Given the description of an element on the screen output the (x, y) to click on. 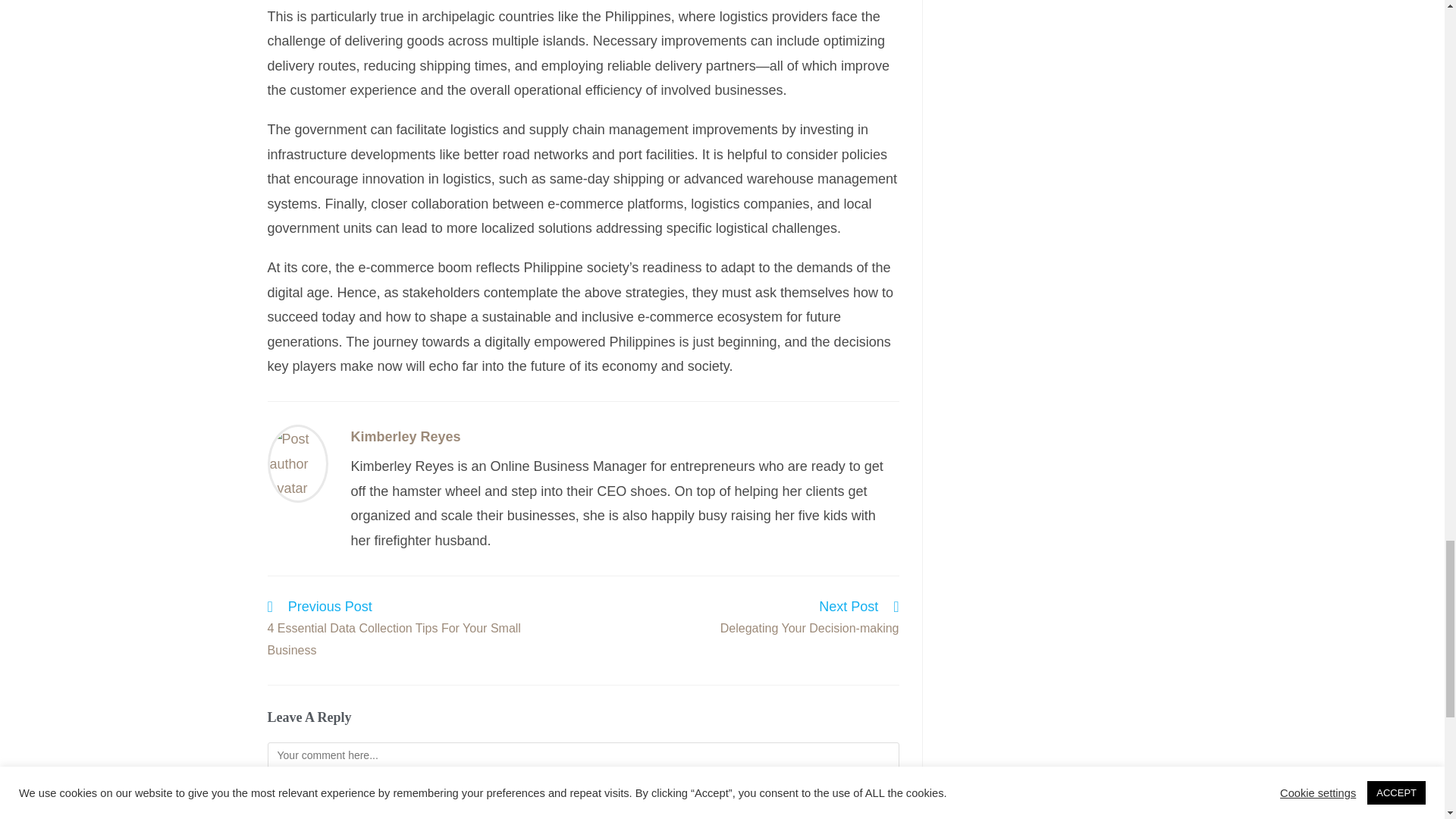
Visit author page (296, 462)
Visit author page (405, 436)
